Given the description of an element on the screen output the (x, y) to click on. 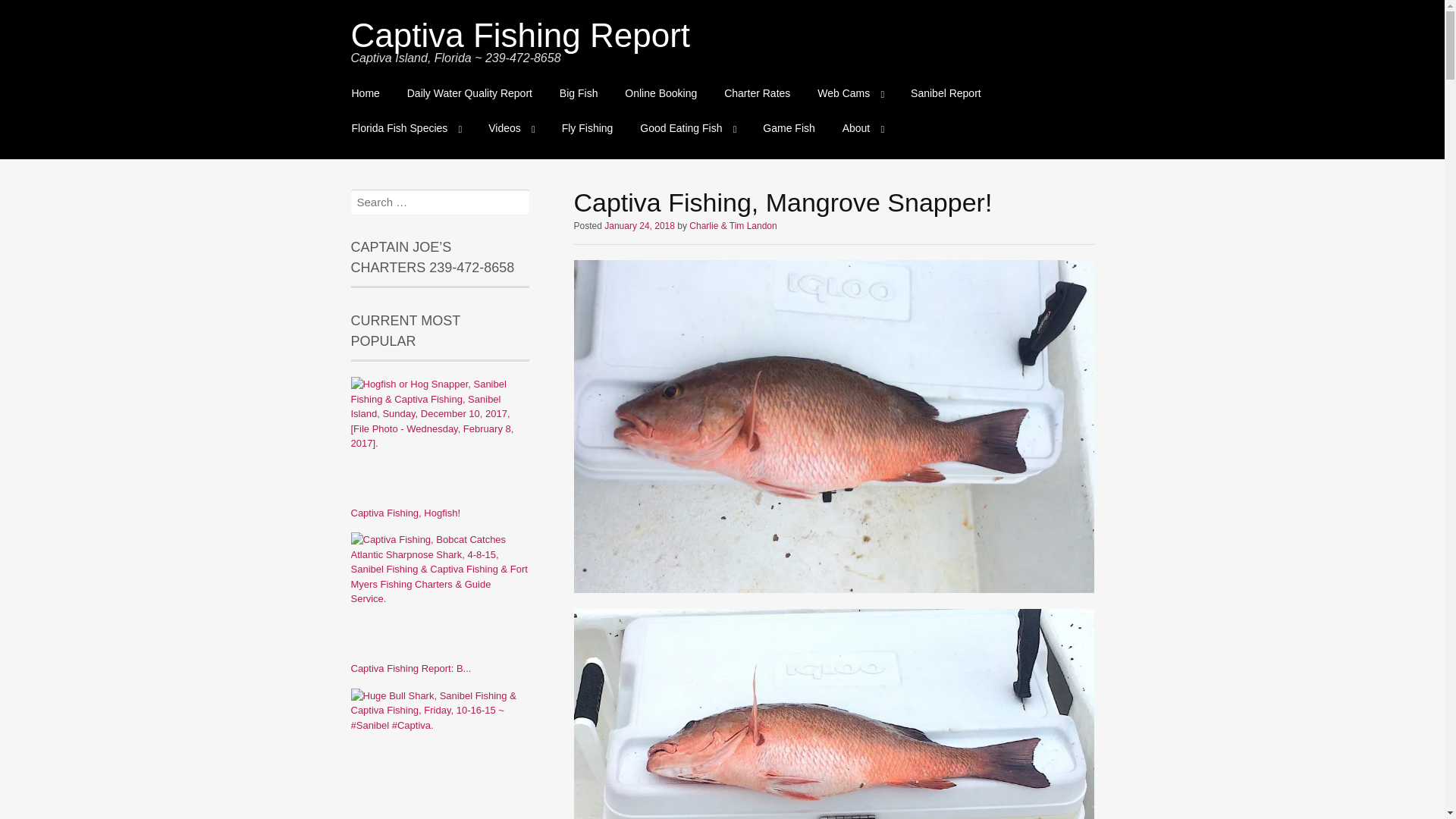
Daily Water Quality Report (469, 93)
Florida Fish Species (406, 128)
Daily Water Quality Report (469, 93)
Captiva Fishing Report (520, 35)
Skip to content (351, 85)
Home (365, 93)
Charter Rates (756, 93)
Web Cams (850, 93)
Online Booking (660, 93)
Videos (511, 128)
